Given the description of an element on the screen output the (x, y) to click on. 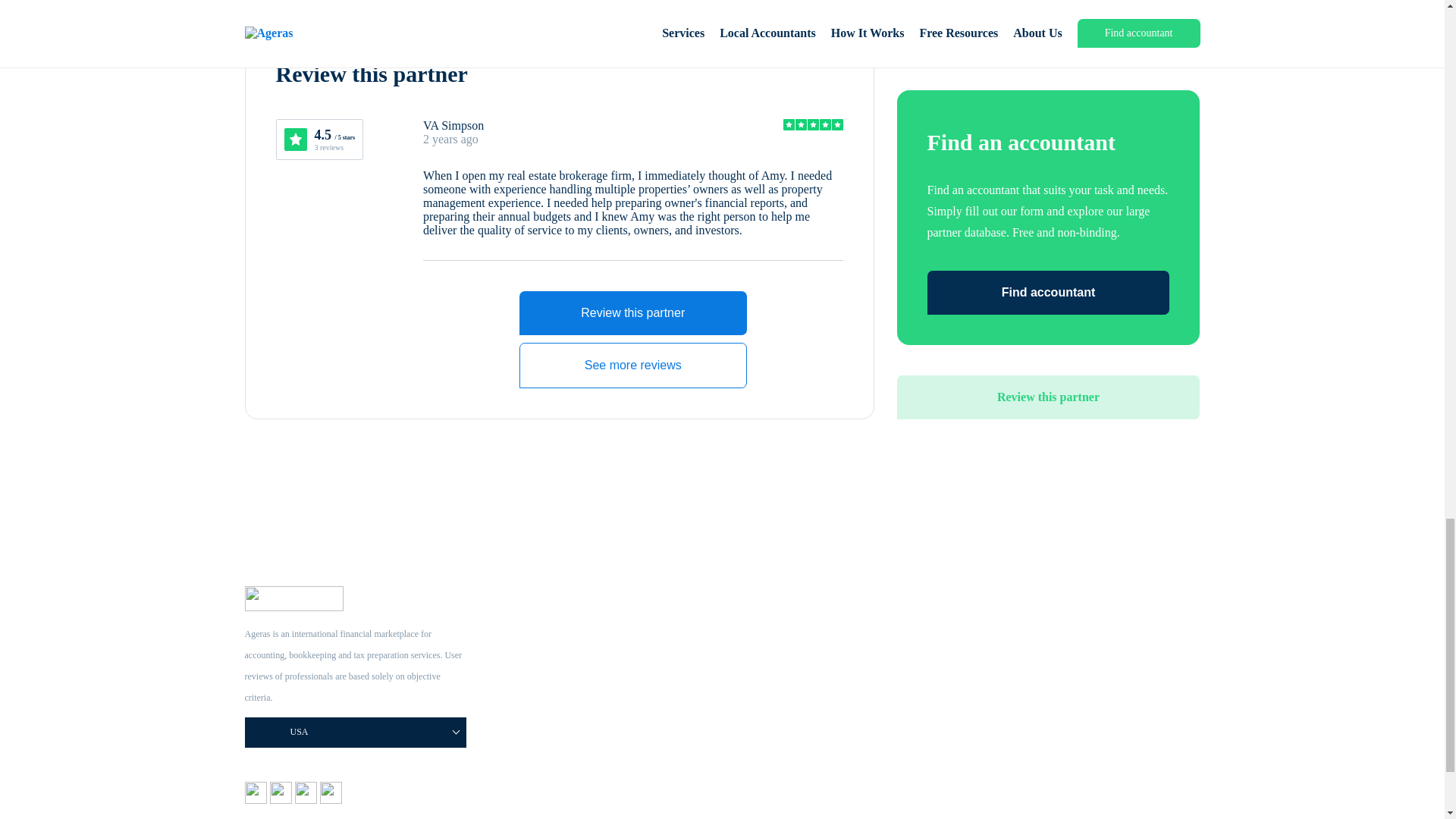
Ageras Twitter (306, 799)
Ageras Facebook (256, 799)
Ageras Instagram (282, 799)
Ageras Linkedin (331, 799)
